Given the description of an element on the screen output the (x, y) to click on. 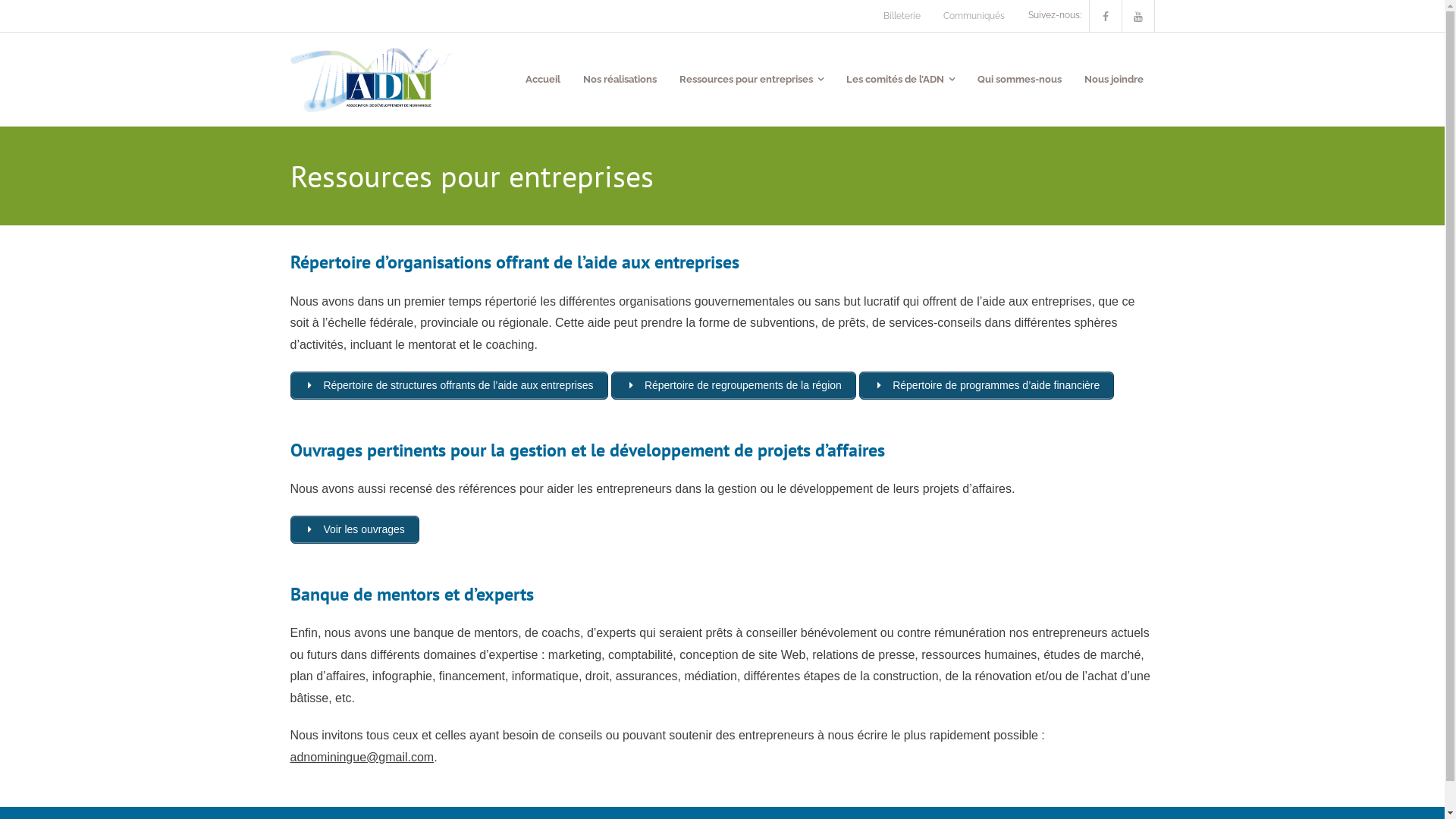
Voir les ouvrages Element type: text (353, 529)
Nous joindre Element type: text (1113, 78)
Billeterie Element type: text (901, 15)
Accueil Element type: text (542, 78)
Qui sommes-nous Element type: text (1019, 78)
Ressources pour entreprises Element type: text (750, 78)
